Given the description of an element on the screen output the (x, y) to click on. 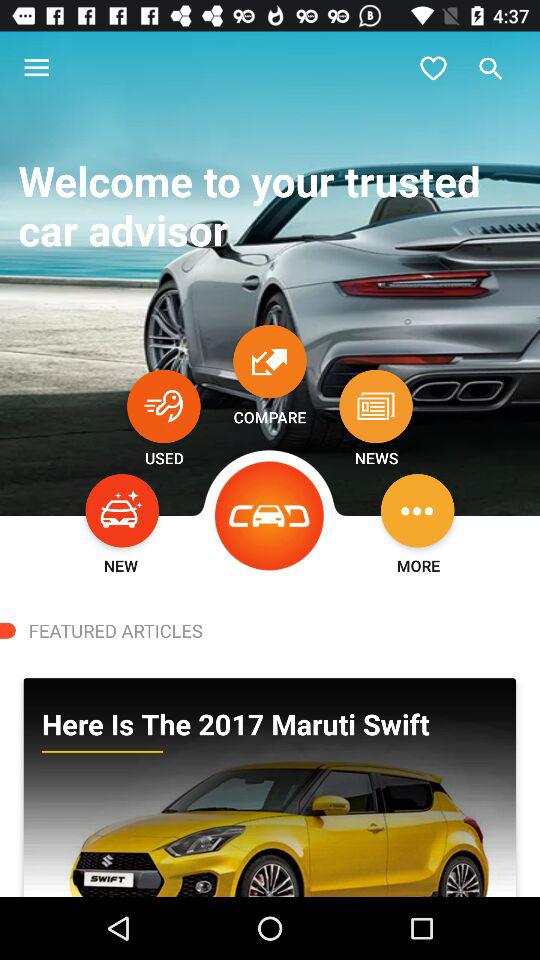
main (269, 515)
